Given the description of an element on the screen output the (x, y) to click on. 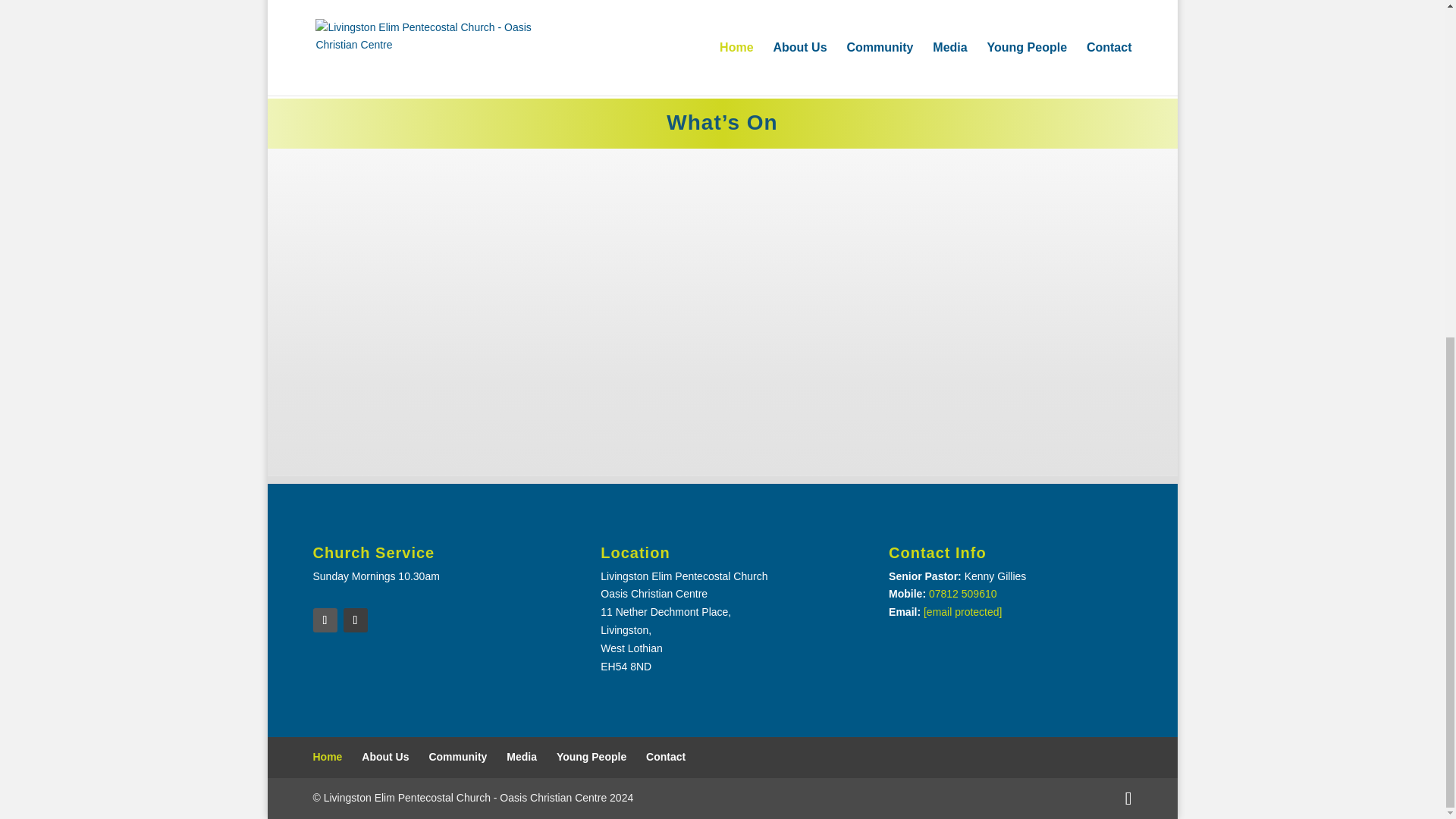
Follow on Youtube (354, 620)
Contact (665, 756)
Young People (591, 756)
Media (521, 756)
About Us (385, 756)
07812 509610 (962, 593)
Community (457, 756)
Follow on Facebook (324, 620)
Home (327, 756)
